Given the description of an element on the screen output the (x, y) to click on. 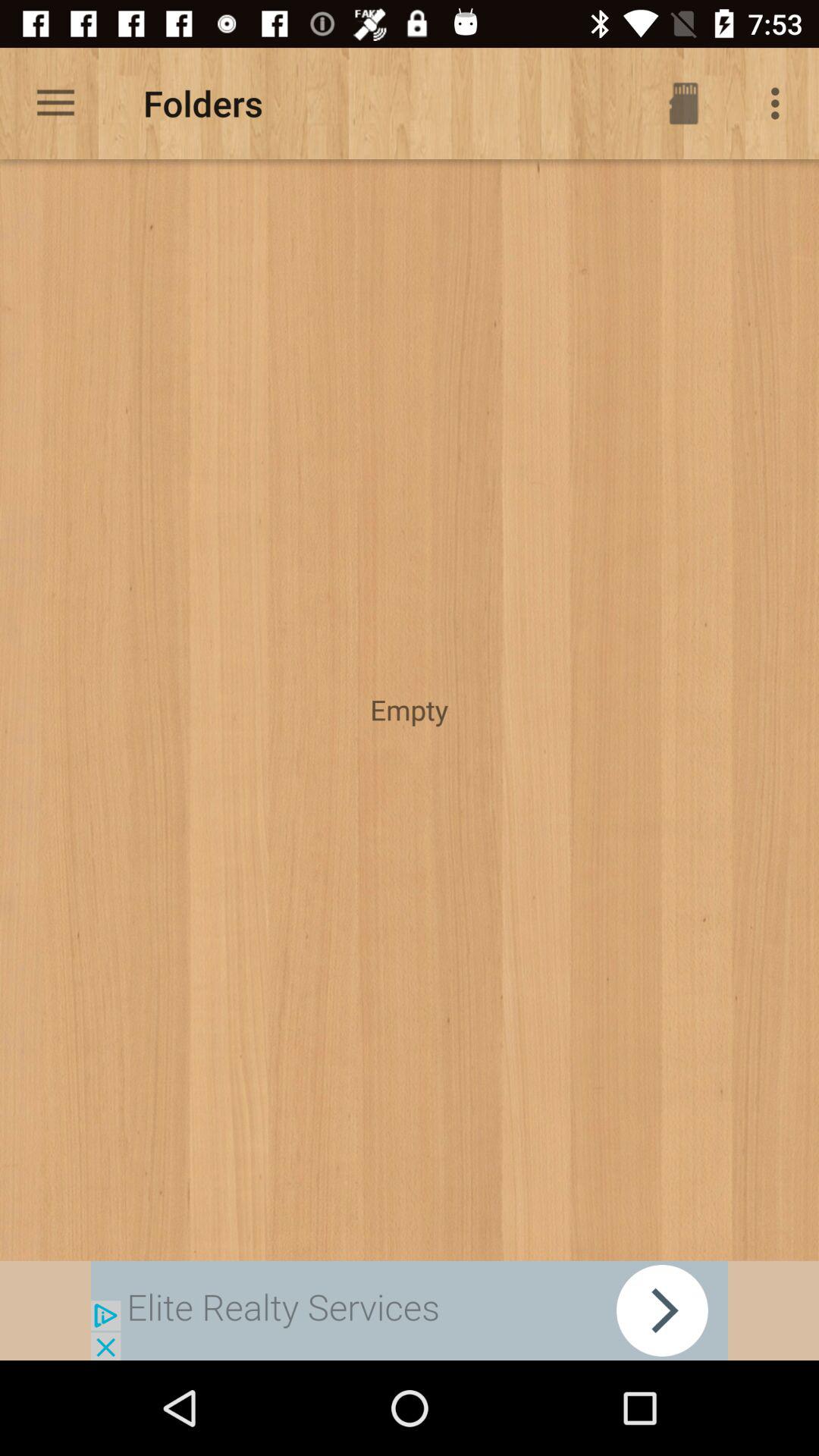
banner advertisement (409, 1310)
